Given the description of an element on the screen output the (x, y) to click on. 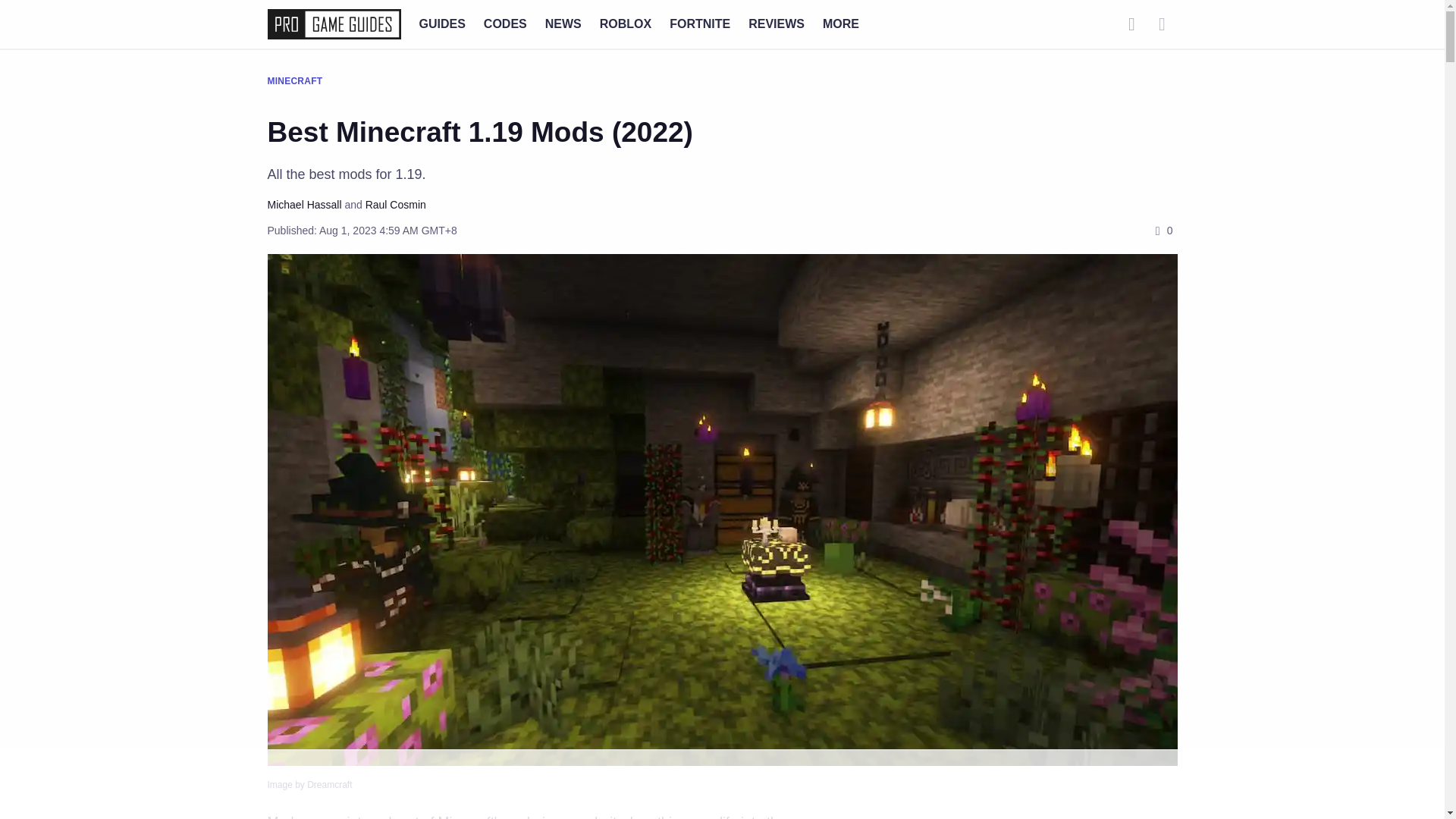
Dark Mode (1161, 24)
GUIDES (441, 23)
CODES (505, 23)
3rd party ad content (721, 785)
ROBLOX (624, 23)
NEWS (562, 23)
Search (1131, 24)
REVIEWS (776, 23)
FORTNITE (699, 23)
